Given the description of an element on the screen output the (x, y) to click on. 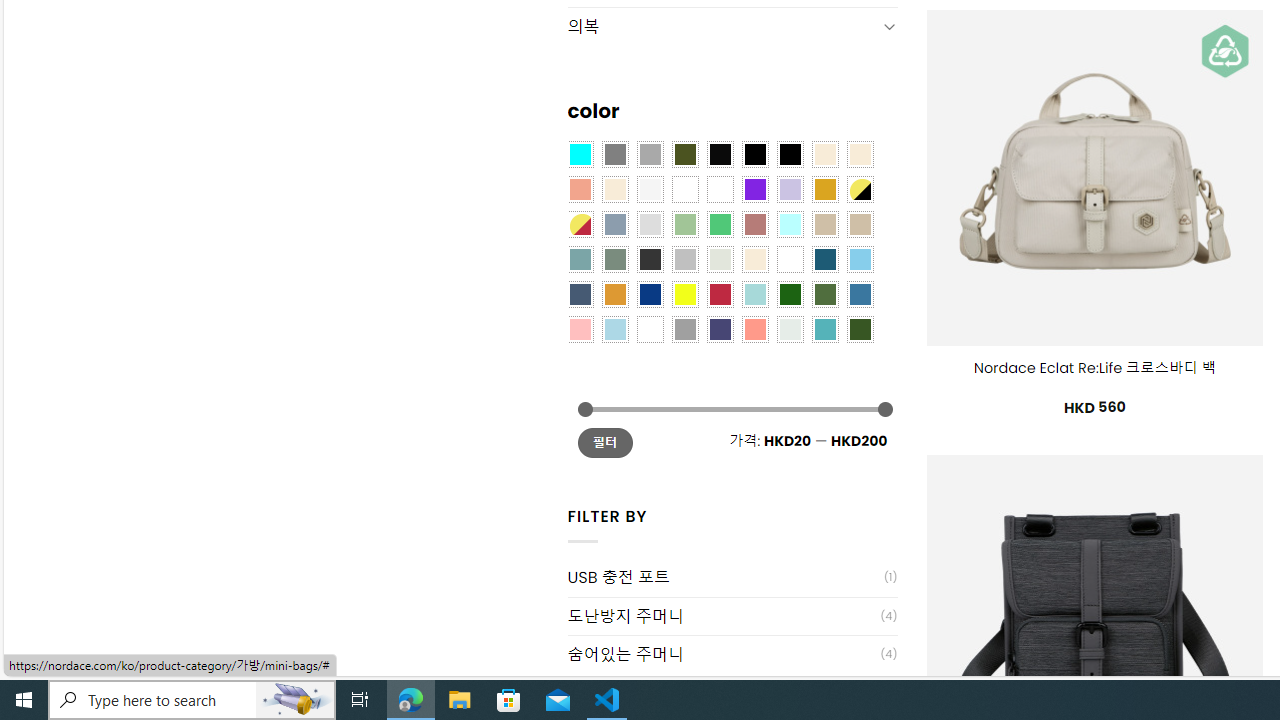
Cream (614, 190)
